Given the description of an element on the screen output the (x, y) to click on. 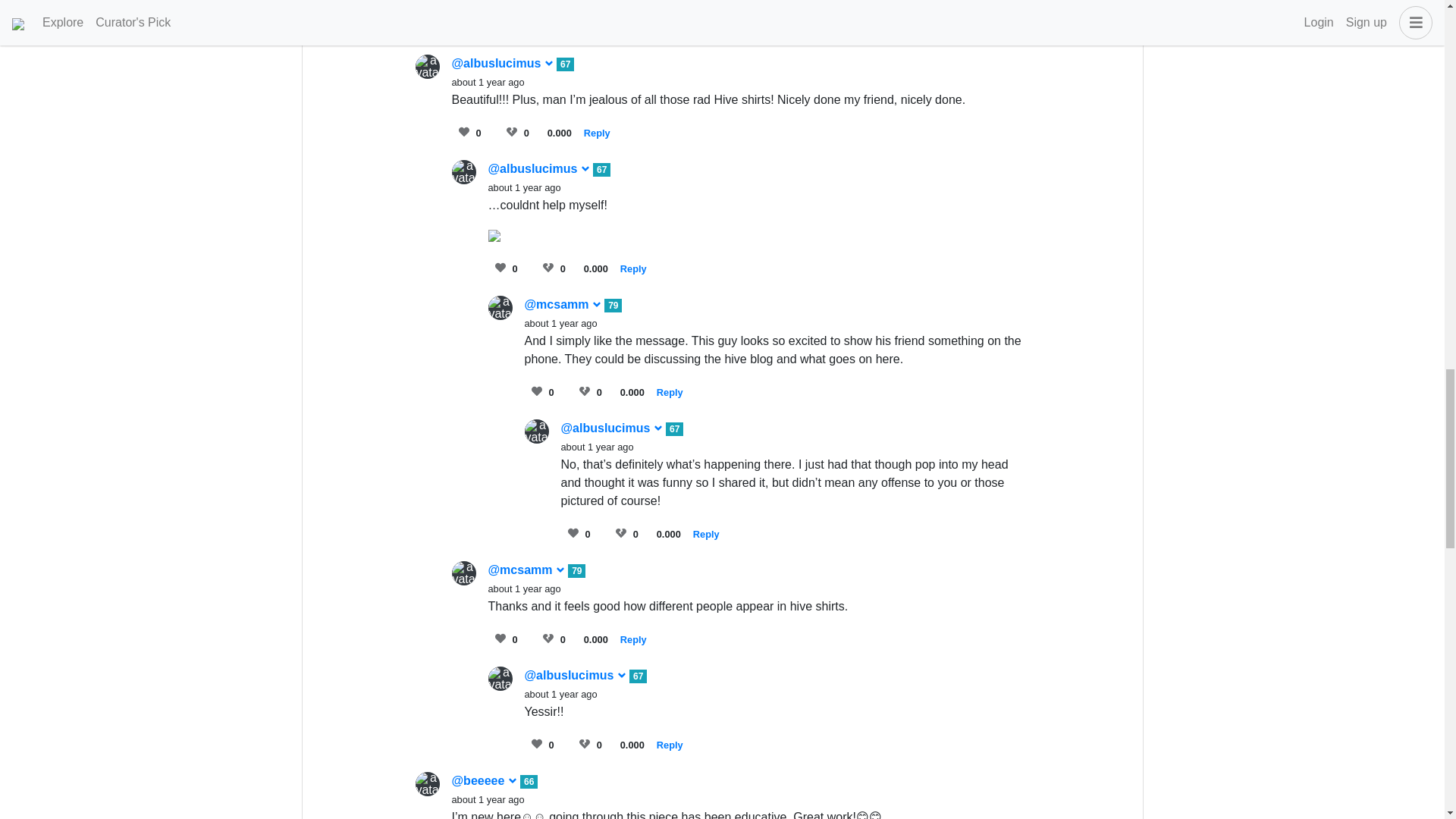
Reply (633, 267)
Reply (706, 532)
Reply (596, 132)
Reply (669, 392)
